Given the description of an element on the screen output the (x, y) to click on. 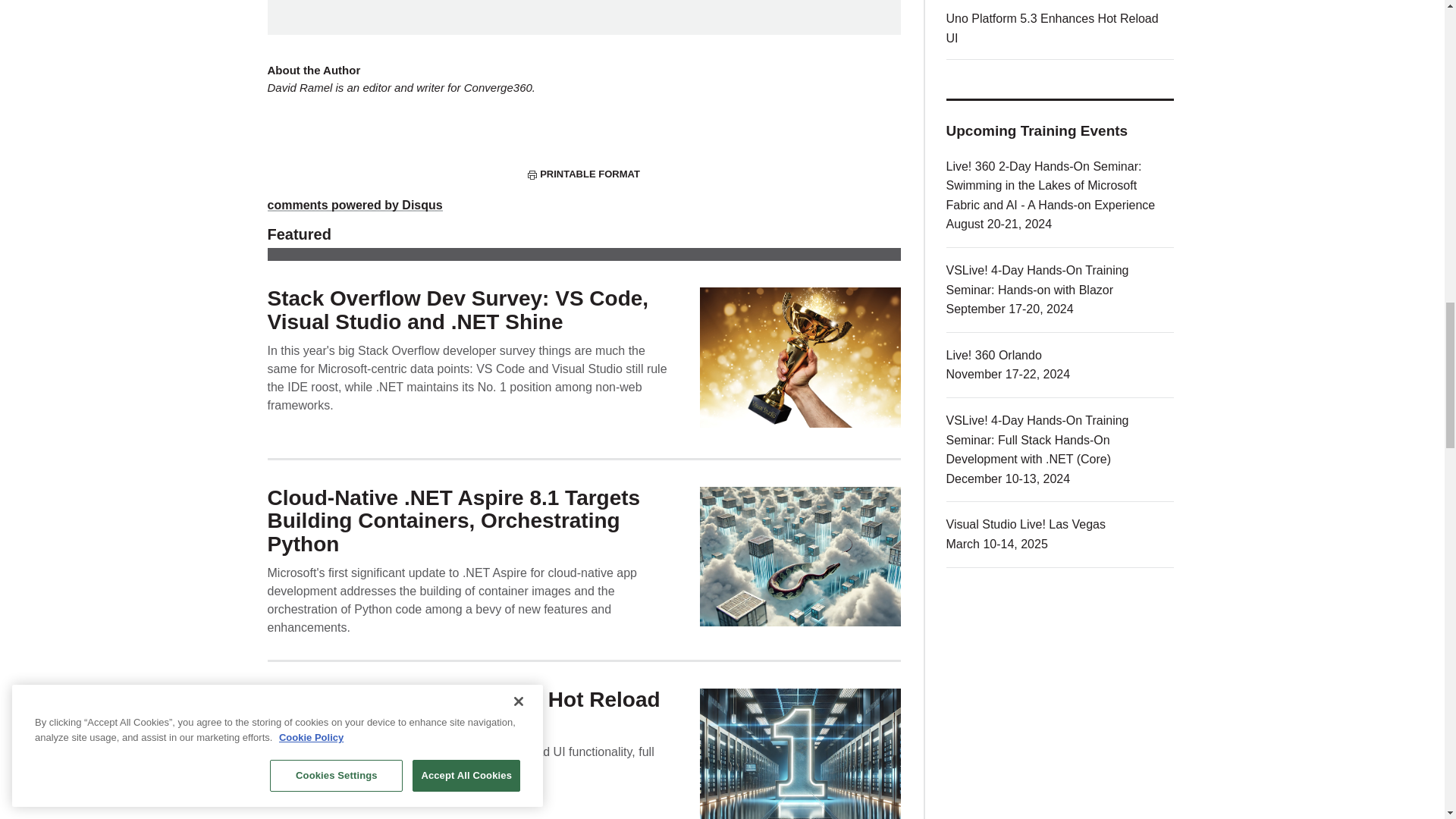
3rd party ad content (1059, 700)
3rd party ad content (583, 9)
